Given the description of an element on the screen output the (x, y) to click on. 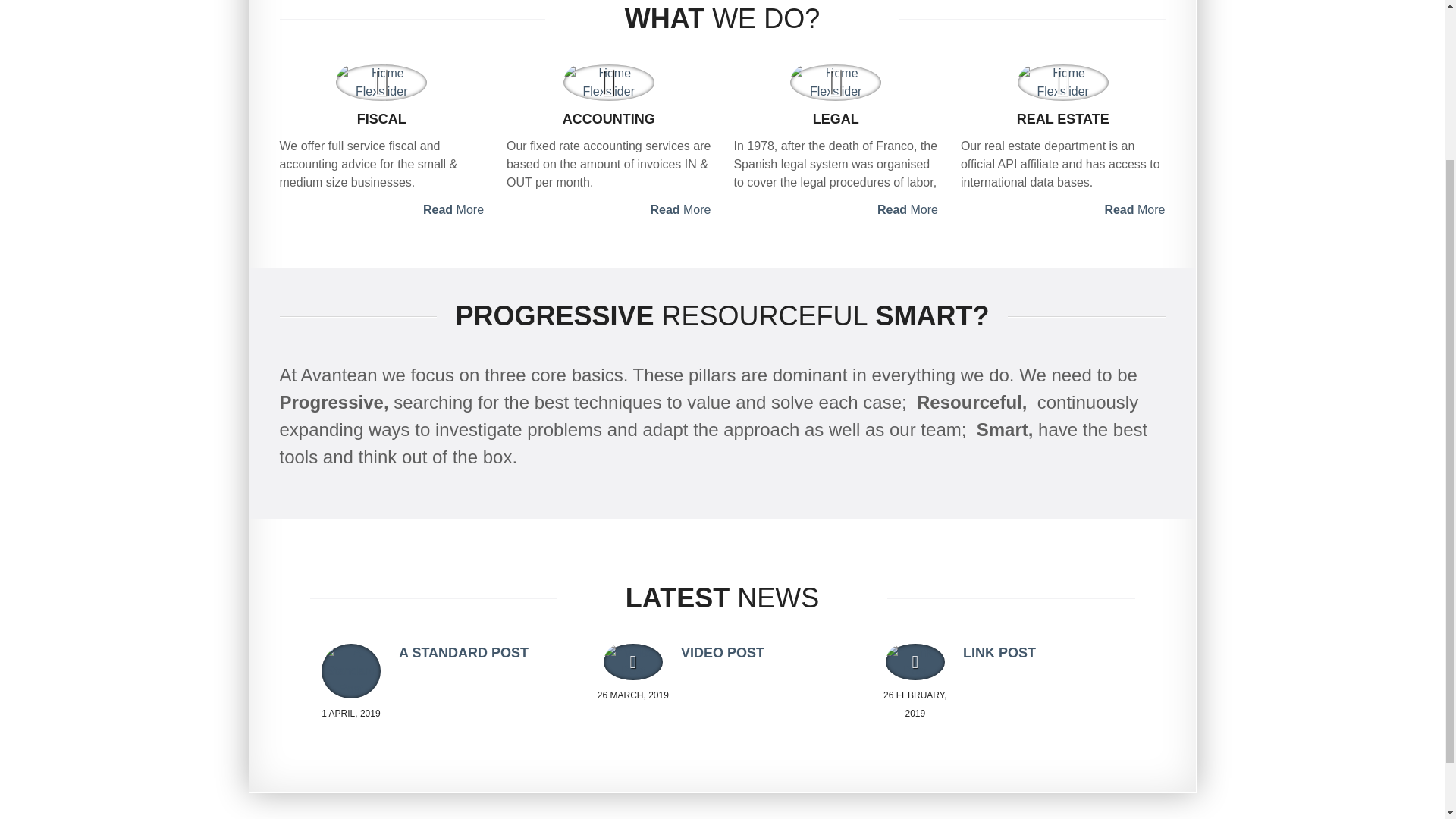
LEGAL (835, 118)
Read More (835, 209)
LINK POST (998, 652)
Video Post (633, 661)
Read More (381, 209)
Read More (1063, 209)
REAL ESTATE (1063, 118)
A Standard Post (350, 670)
A STANDARD POST (463, 652)
ACCOUNTING (608, 118)
VIDEO POST (722, 652)
FISCAL (381, 118)
Read More (608, 209)
Link Post (914, 661)
